Given the description of an element on the screen output the (x, y) to click on. 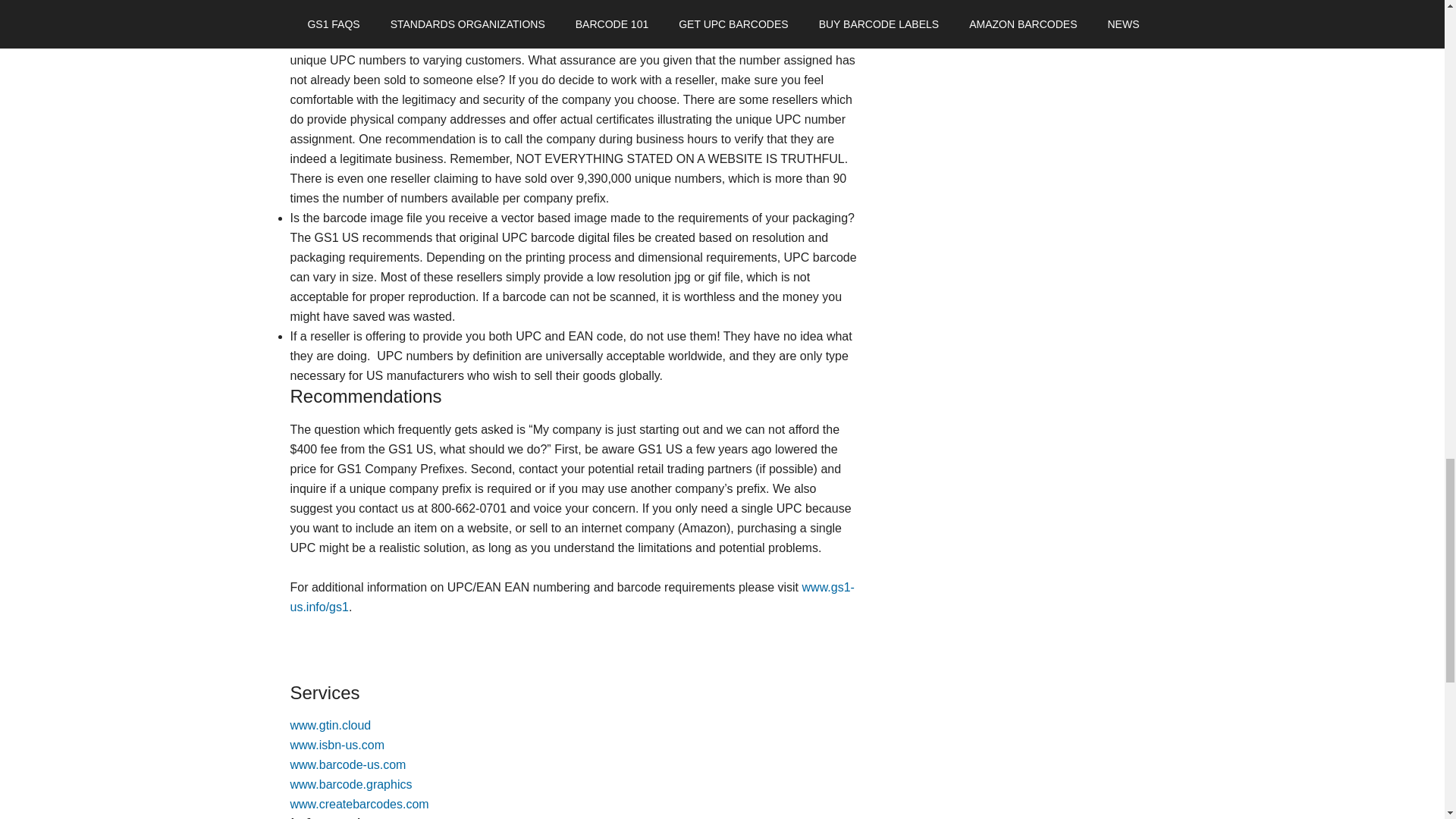
www.isbn-us.com (336, 744)
www.barcode.graphics (350, 784)
www.createbarcodes.com (358, 803)
www.barcode-us.com (347, 764)
www.gtin.cloud (330, 725)
